Given the description of an element on the screen output the (x, y) to click on. 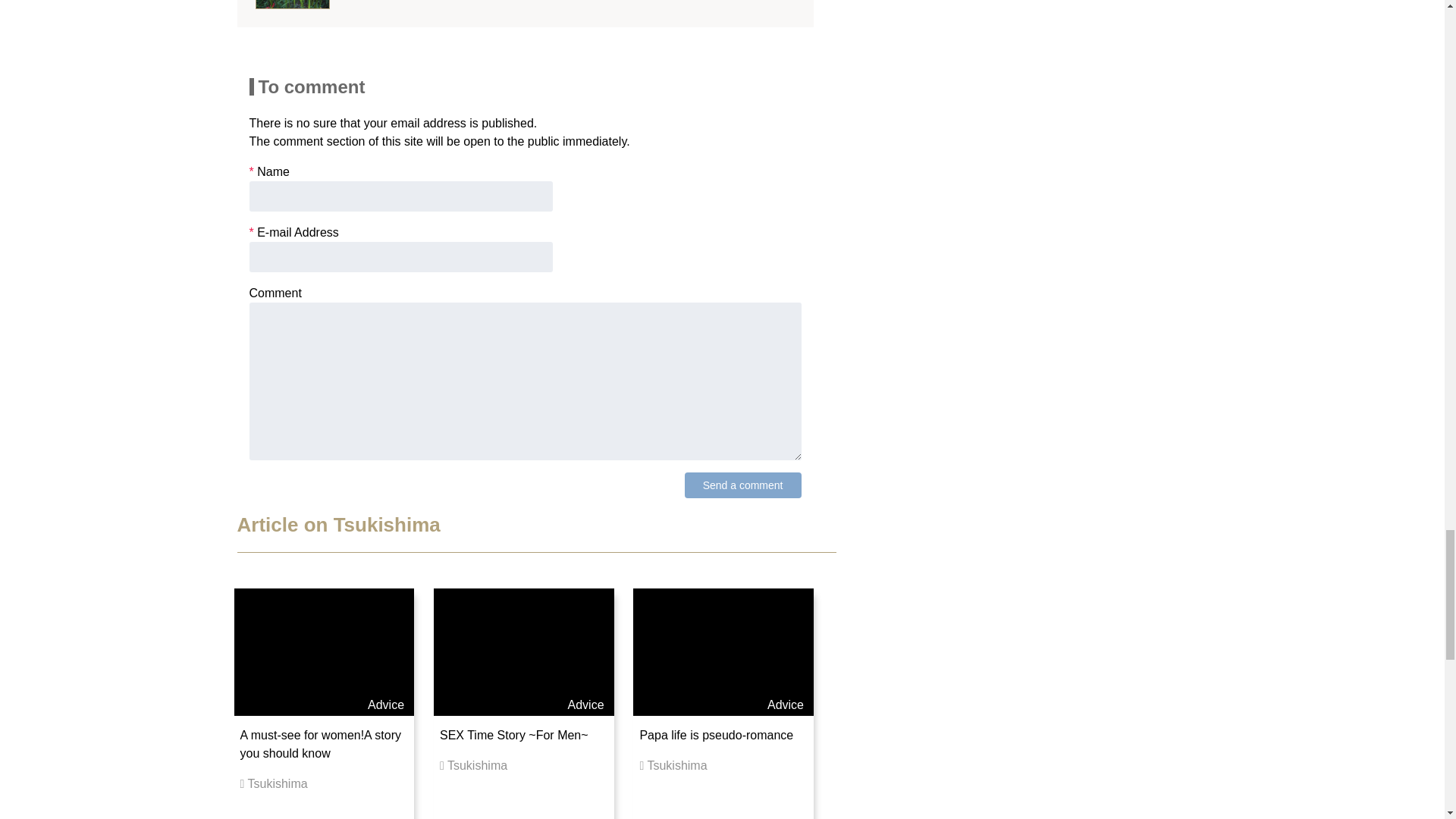
Advice (785, 704)
Advice (585, 704)
Papa life is pseudo-romance (716, 735)
Send a comment (743, 484)
Advice (386, 704)
Send a comment (743, 484)
A must-see for women!A story you should know (320, 744)
